Given the description of an element on the screen output the (x, y) to click on. 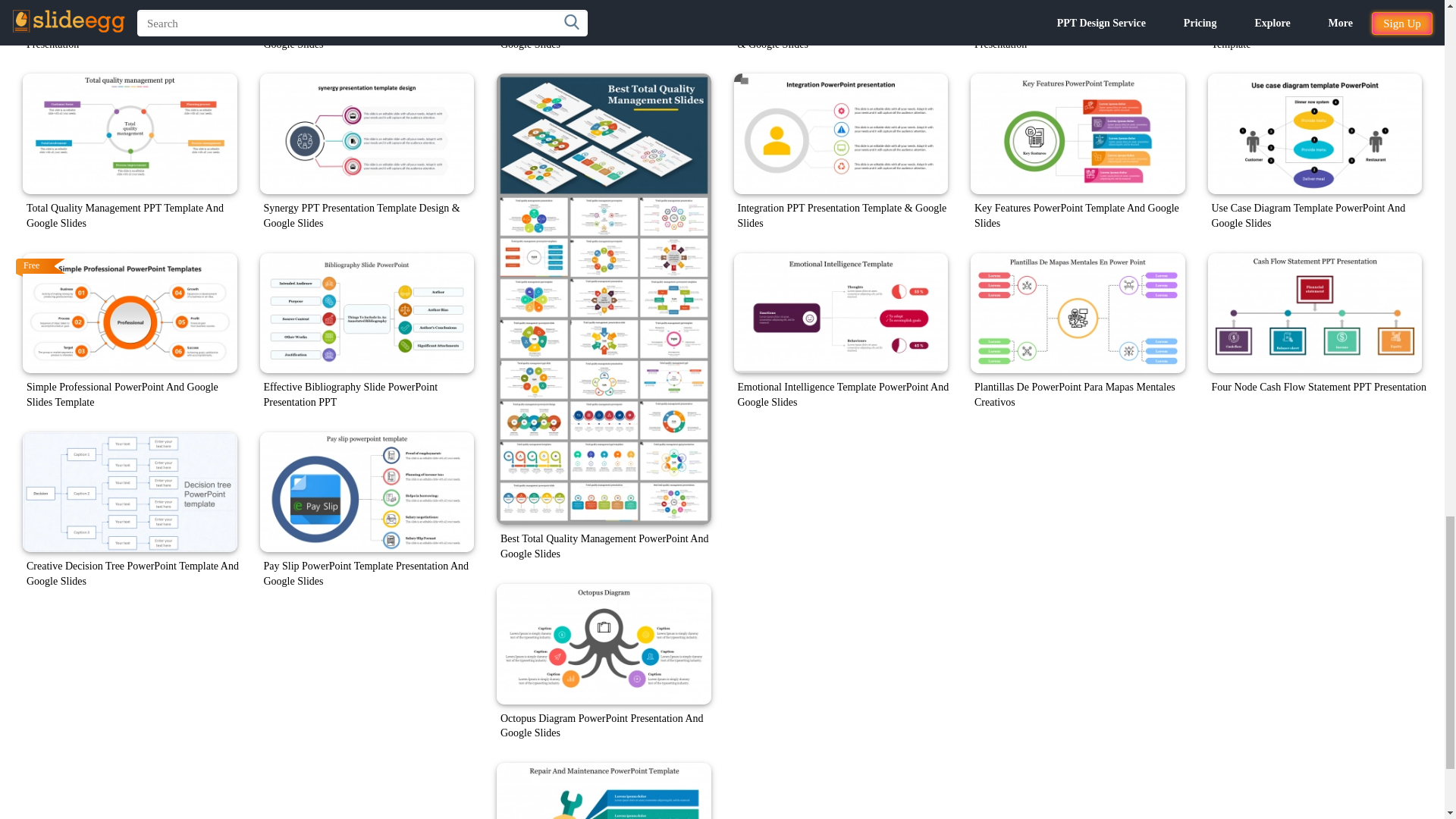
Emotional Intelligence Template PowerPoint and Google Slides (841, 313)
Repair and Maintenance PowerPoint Template and Google Slides (603, 790)
Effective Target PPT Presentation Template and Google Slides (366, 7)
Pay Slip PowerPoint Template Presentation and Google Slides (366, 492)
Effective Bibliography Slide PowerPoint Presentation PPT (366, 313)
Simple Framework Template PPT Slide For Presentation (130, 7)
Download E-learning PPT Presentation and Google Slides (603, 7)
Plantillas De PowerPoint Para Mapas Mentales Creativos (1078, 313)
Key Features PowerPoint Template and Google Slides (1078, 133)
Creative Decision Tree PowerPoint Template and Google Slides (130, 492)
Total Quality Management PPT Template and Google Slides (130, 133)
Octopus Diagram PowerPoint Presentation and Google Slides (603, 643)
Simple Professional PowerPoint And Google Slides Template (130, 313)
